Given the description of an element on the screen output the (x, y) to click on. 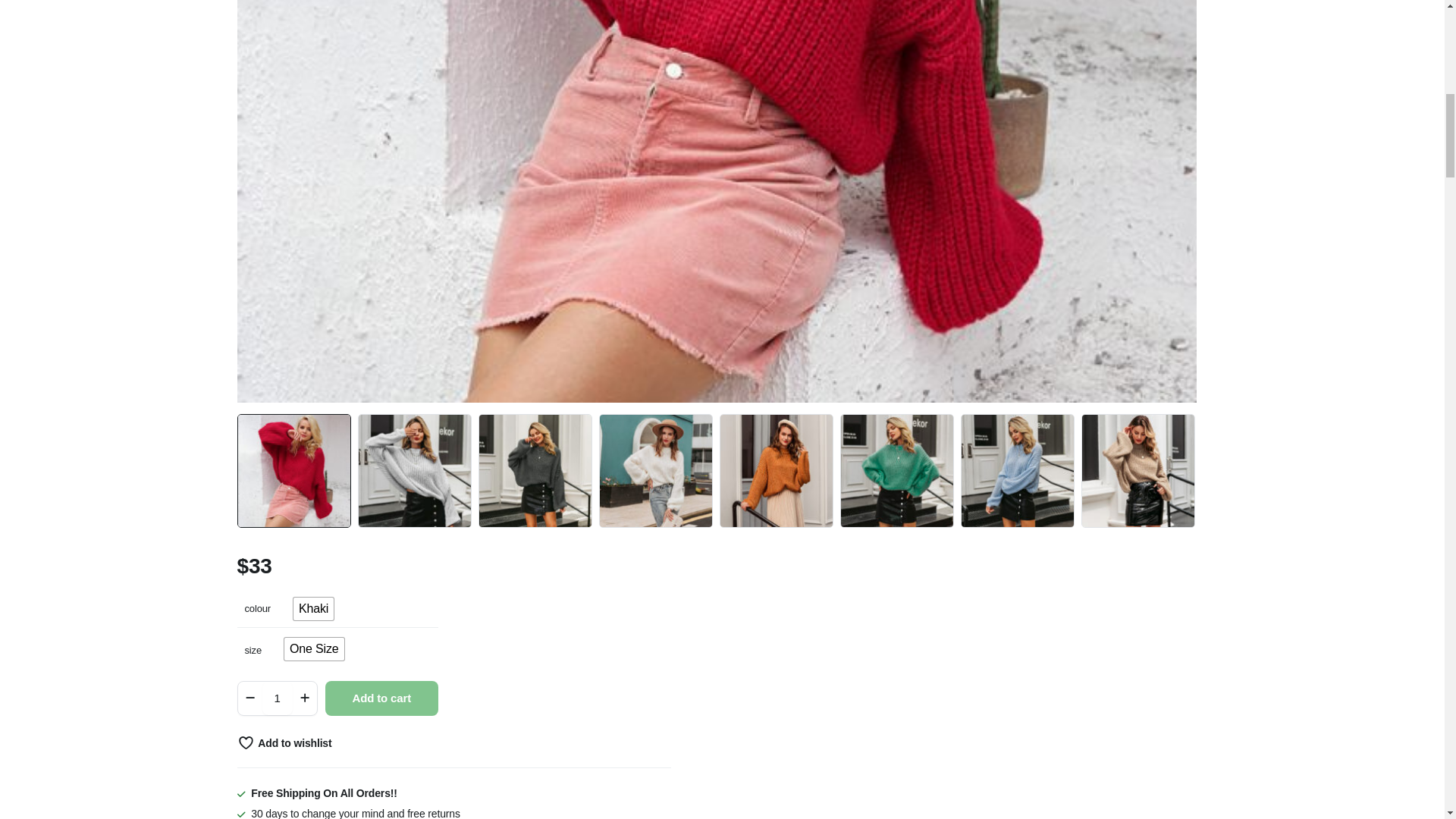
1 (277, 697)
Khaki (313, 608)
One Size (313, 649)
